Given the description of an element on the screen output the (x, y) to click on. 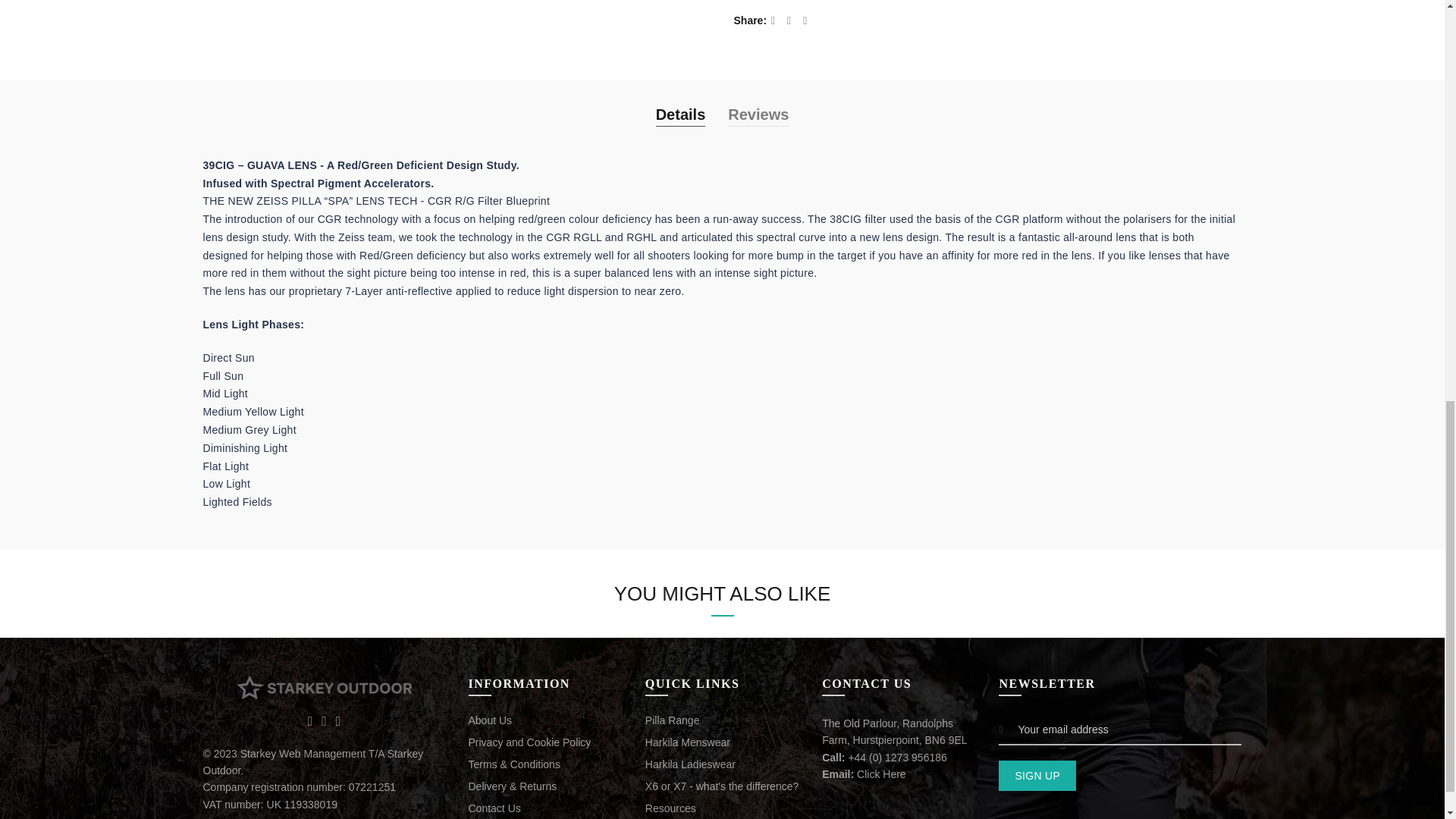
Sign up (1036, 775)
Starkey Outdoor (322, 687)
